Given the description of an element on the screen output the (x, y) to click on. 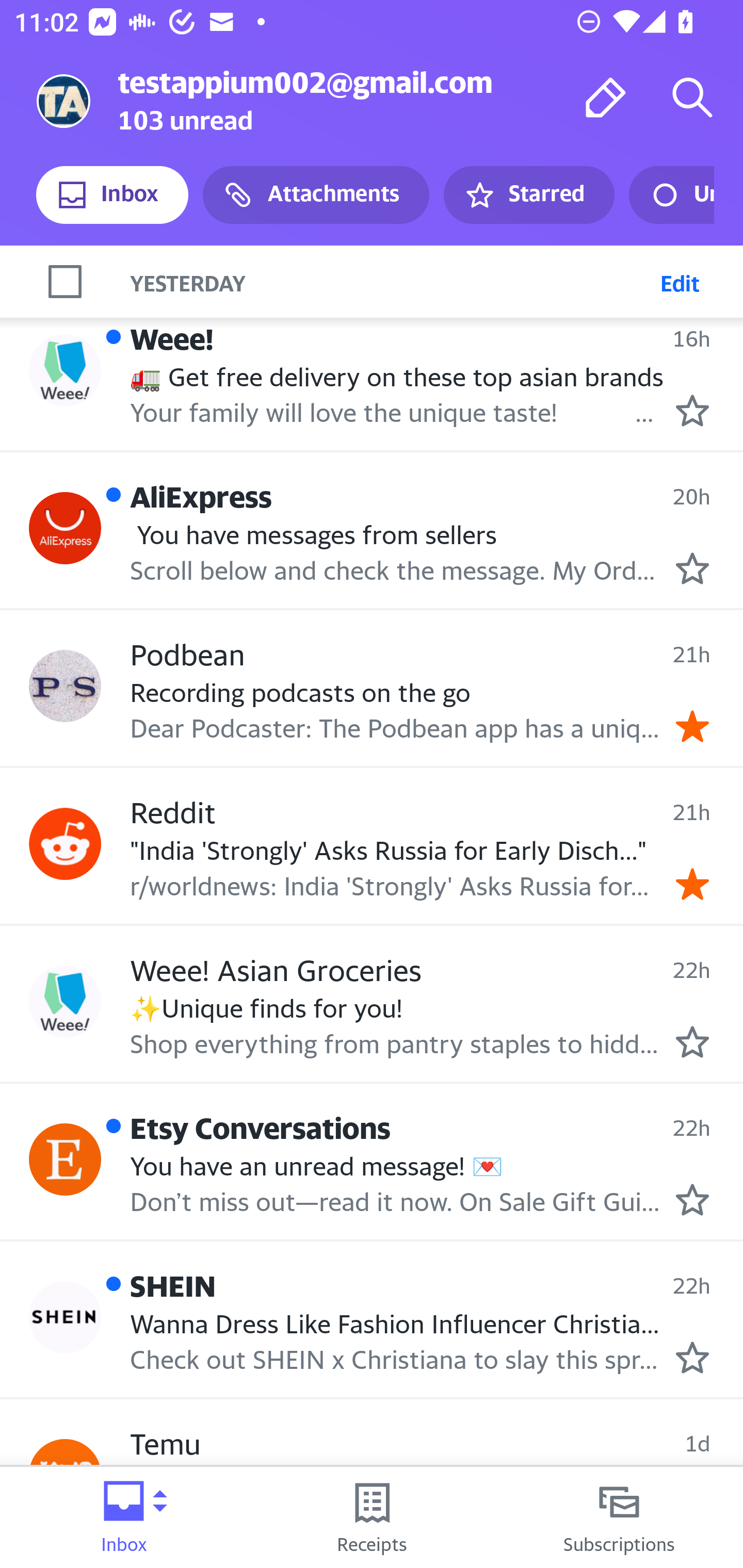
Compose (605, 97)
Search mail (692, 97)
Attachments (315, 195)
Starred (528, 195)
Profile
Weee! (64, 369)
Mark as starred. (692, 410)
Profile
AliExpress (64, 528)
Mark as starred. (692, 568)
Profile
Podbean (64, 685)
Remove star. (692, 726)
Profile
Reddit (64, 843)
Remove star. (692, 883)
Profile
Weee! Asian Groceries (64, 1001)
Mark as starred. (692, 1041)
Profile
Etsy Conversations (64, 1158)
Mark as starred. (692, 1200)
Profile
SHEIN (64, 1317)
Mark as starred. (692, 1357)
Inbox Folder picker (123, 1517)
Receipts (371, 1517)
Subscriptions (619, 1517)
